Given the description of an element on the screen output the (x, y) to click on. 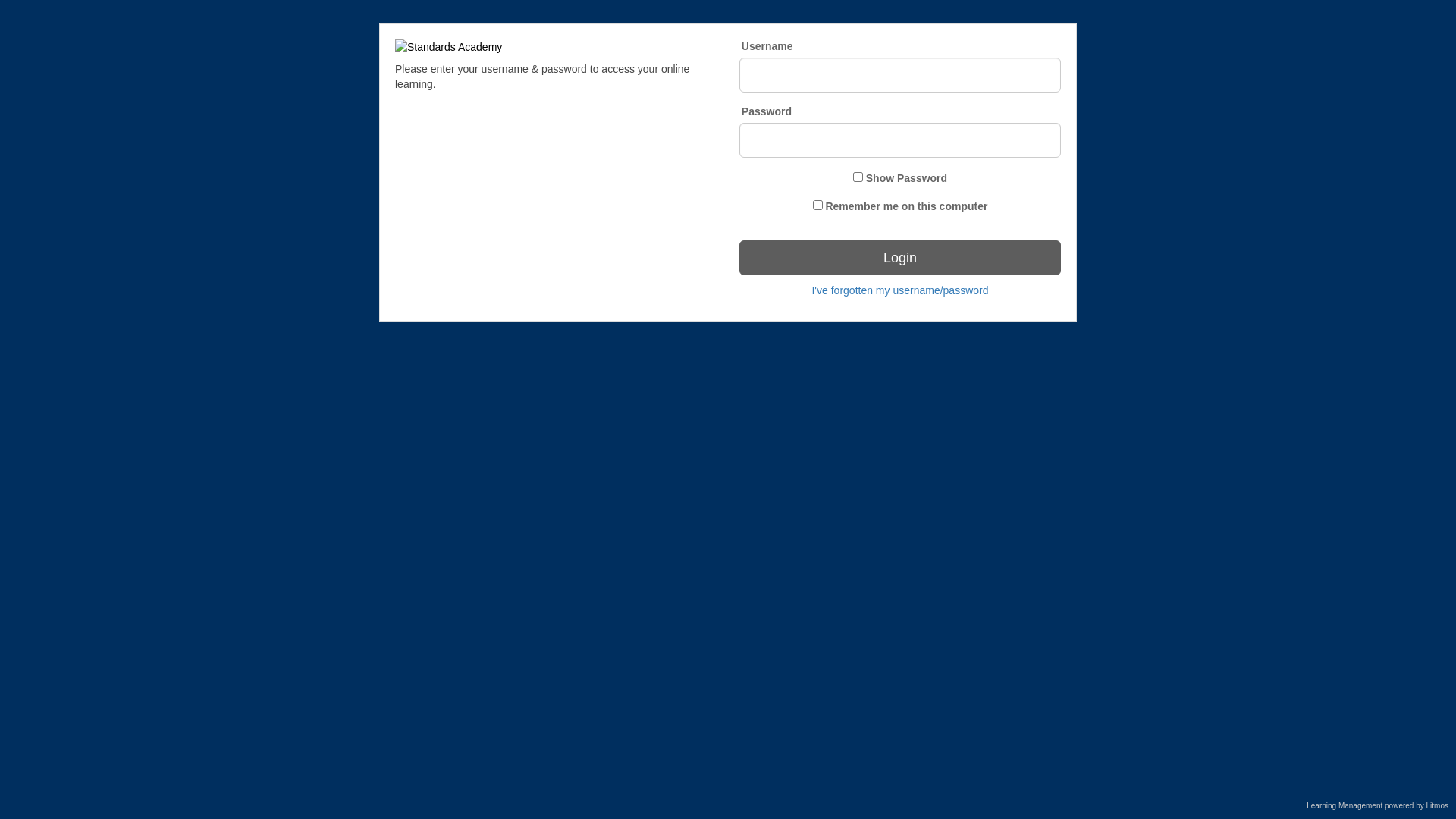
I've forgotten my username/password Element type: text (899, 290)
 Login  Element type: text (899, 257)
Learning Management Element type: text (1344, 805)
